Given the description of an element on the screen output the (x, y) to click on. 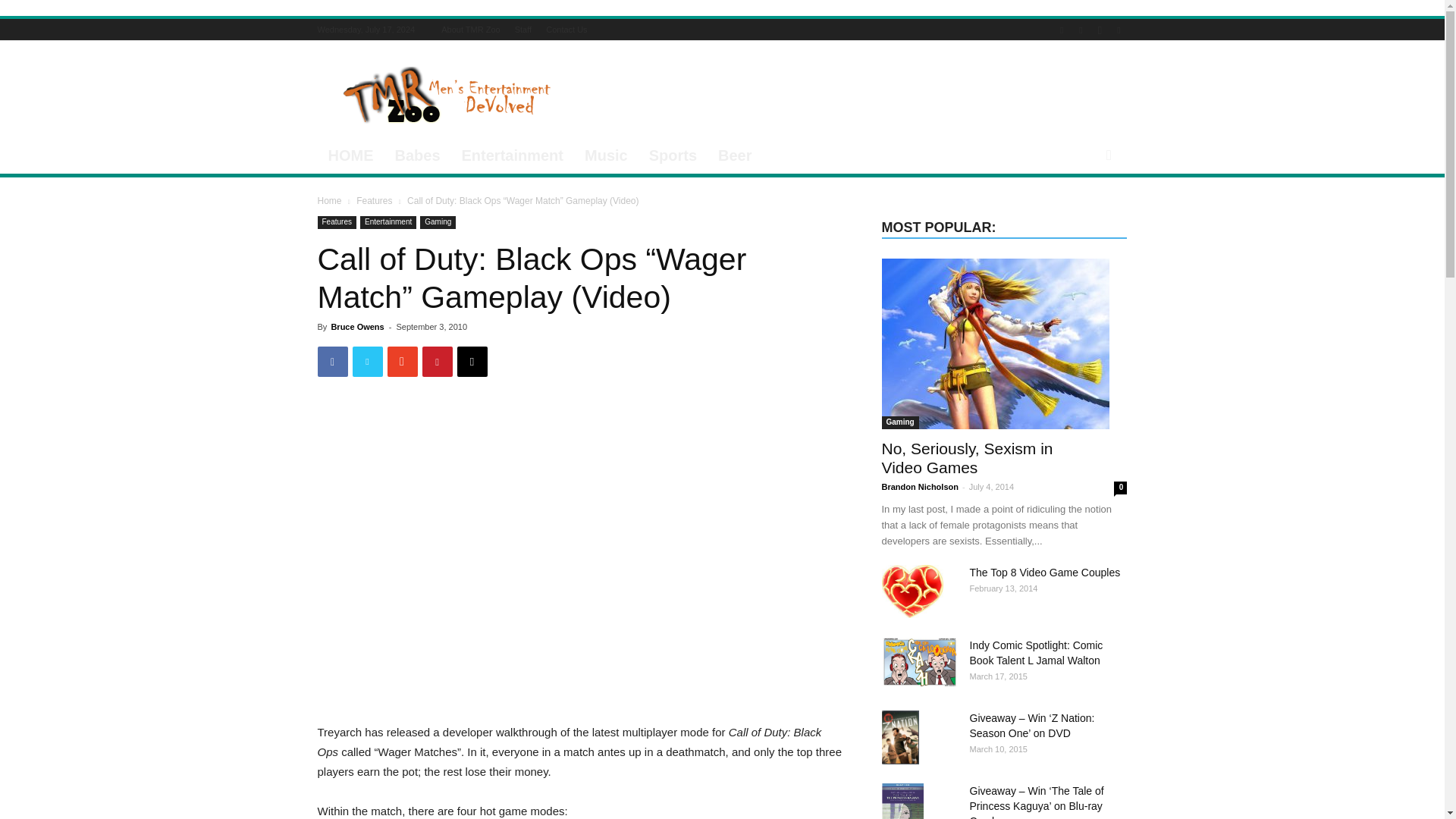
Sports (673, 155)
View all posts in Features (373, 200)
About TMR Zoo (470, 29)
Entertainment (512, 155)
Features (373, 200)
Bruce Owens (357, 326)
Beer (734, 155)
Contact Us (566, 29)
Entertainment (387, 222)
Home (328, 200)
Babes (416, 155)
Music (606, 155)
Staff (523, 29)
Gaming (437, 222)
Search (1083, 215)
